Given the description of an element on the screen output the (x, y) to click on. 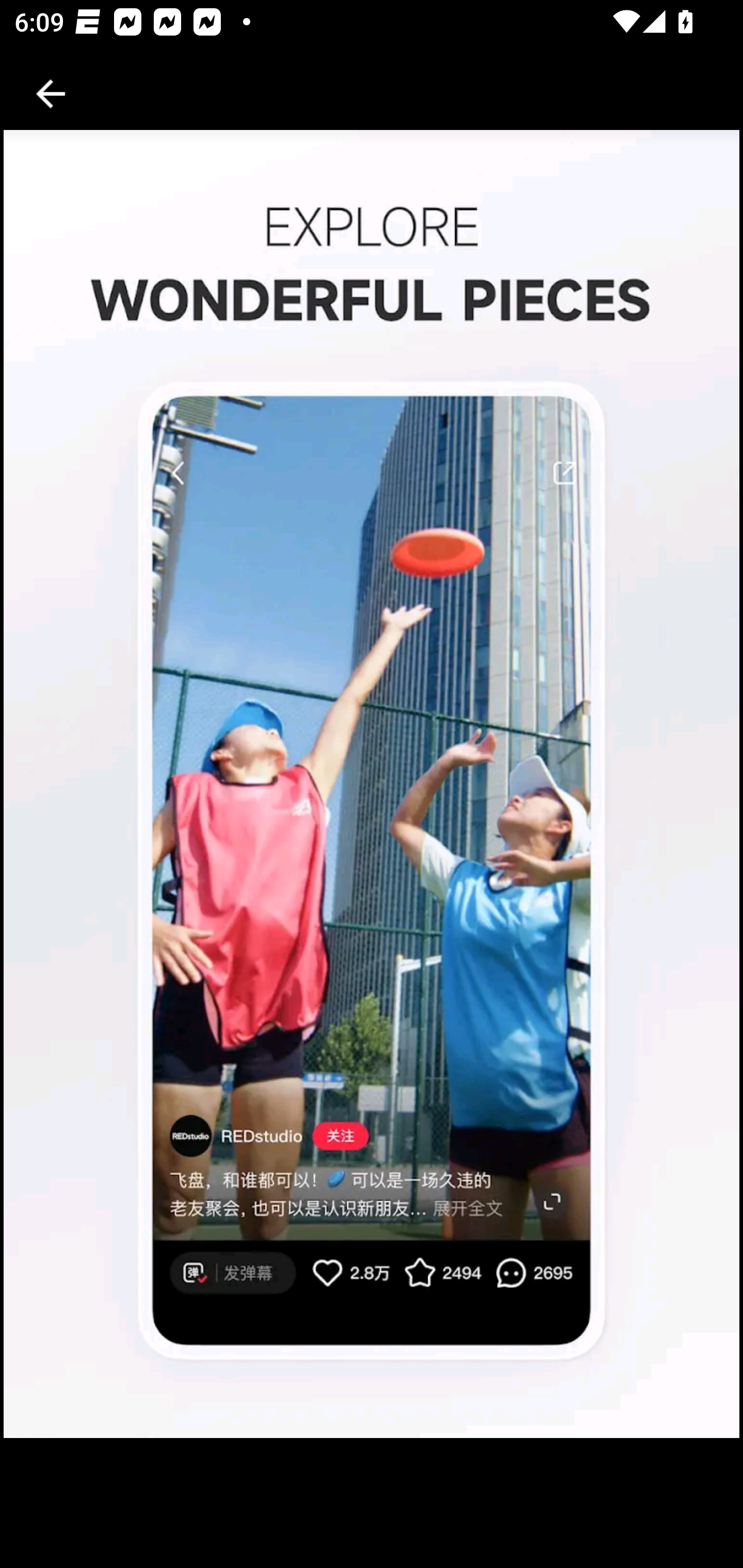
Back (50, 93)
